Given the description of an element on the screen output the (x, y) to click on. 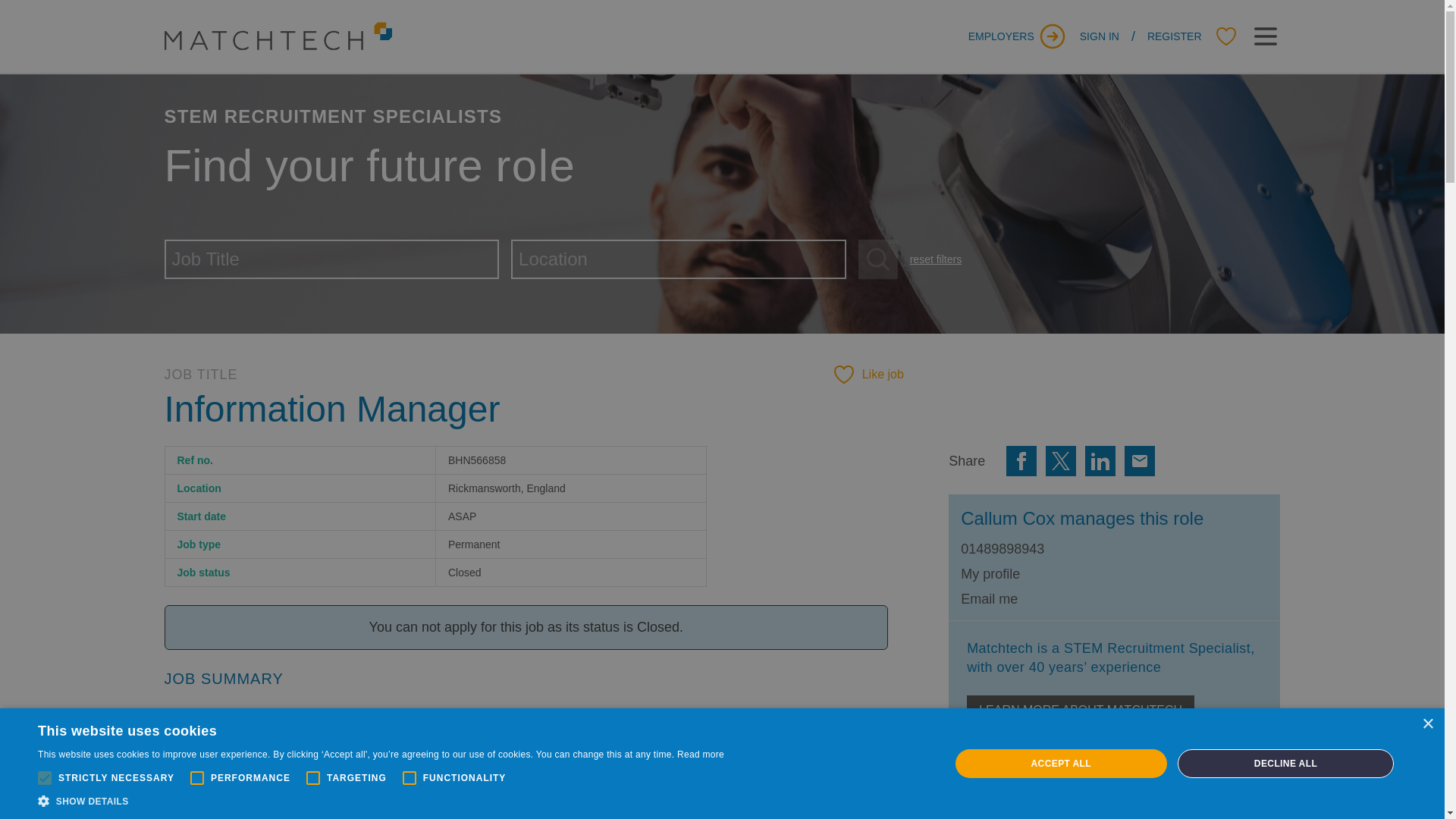
Home (277, 36)
Toggle menu (1264, 36)
SIGN IN (1099, 36)
EMPLOYERS (1017, 36)
REGISTER (1174, 36)
